Given the description of an element on the screen output the (x, y) to click on. 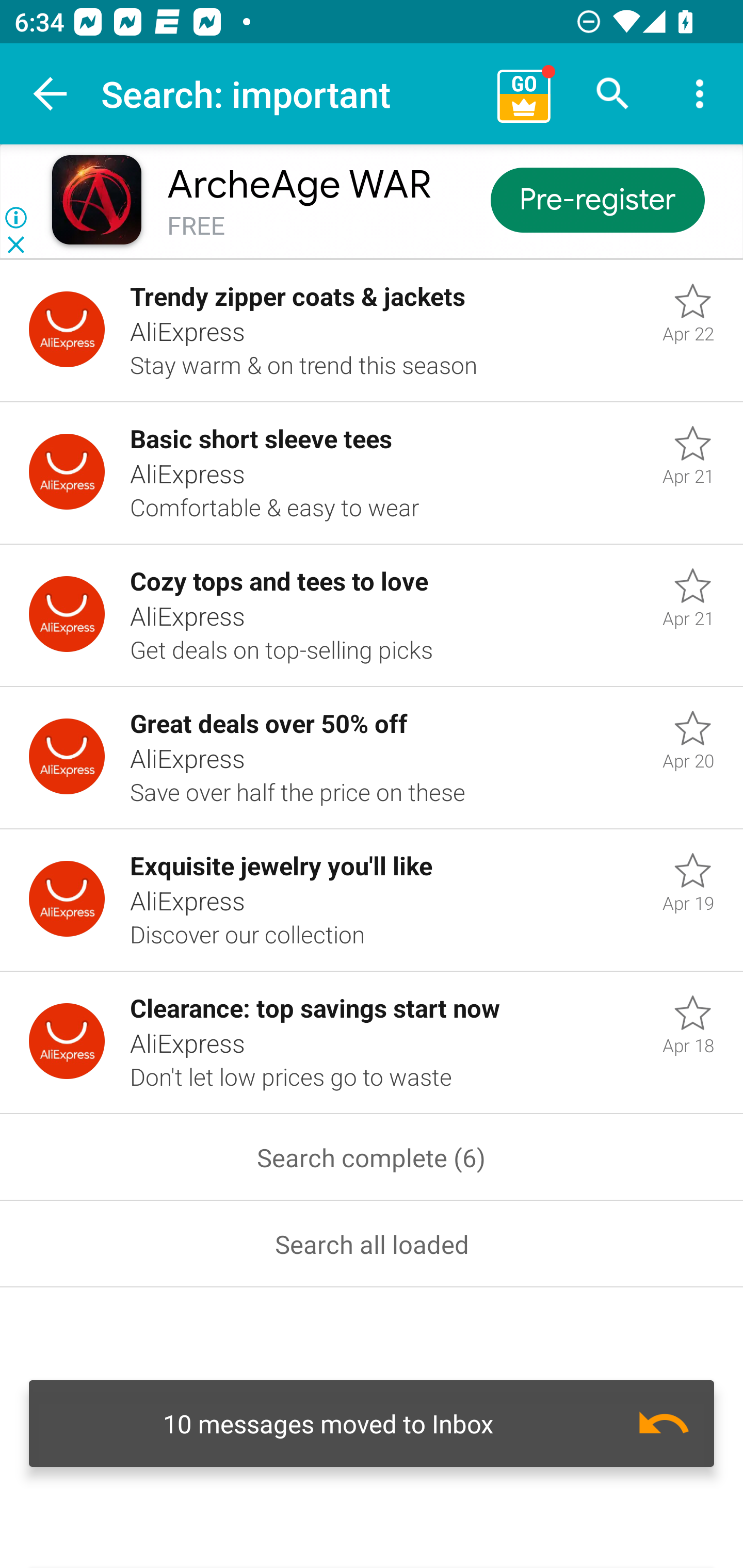
Navigate up (50, 93)
Search (612, 93)
More options (699, 93)
ArcheAge WAR (298, 184)
Pre-register (597, 199)
FREE (195, 225)
Search complete (6) (371, 1157)
Search all loaded (371, 1244)
Undo 10 messages moved to Inbox (371, 1423)
